Given the description of an element on the screen output the (x, y) to click on. 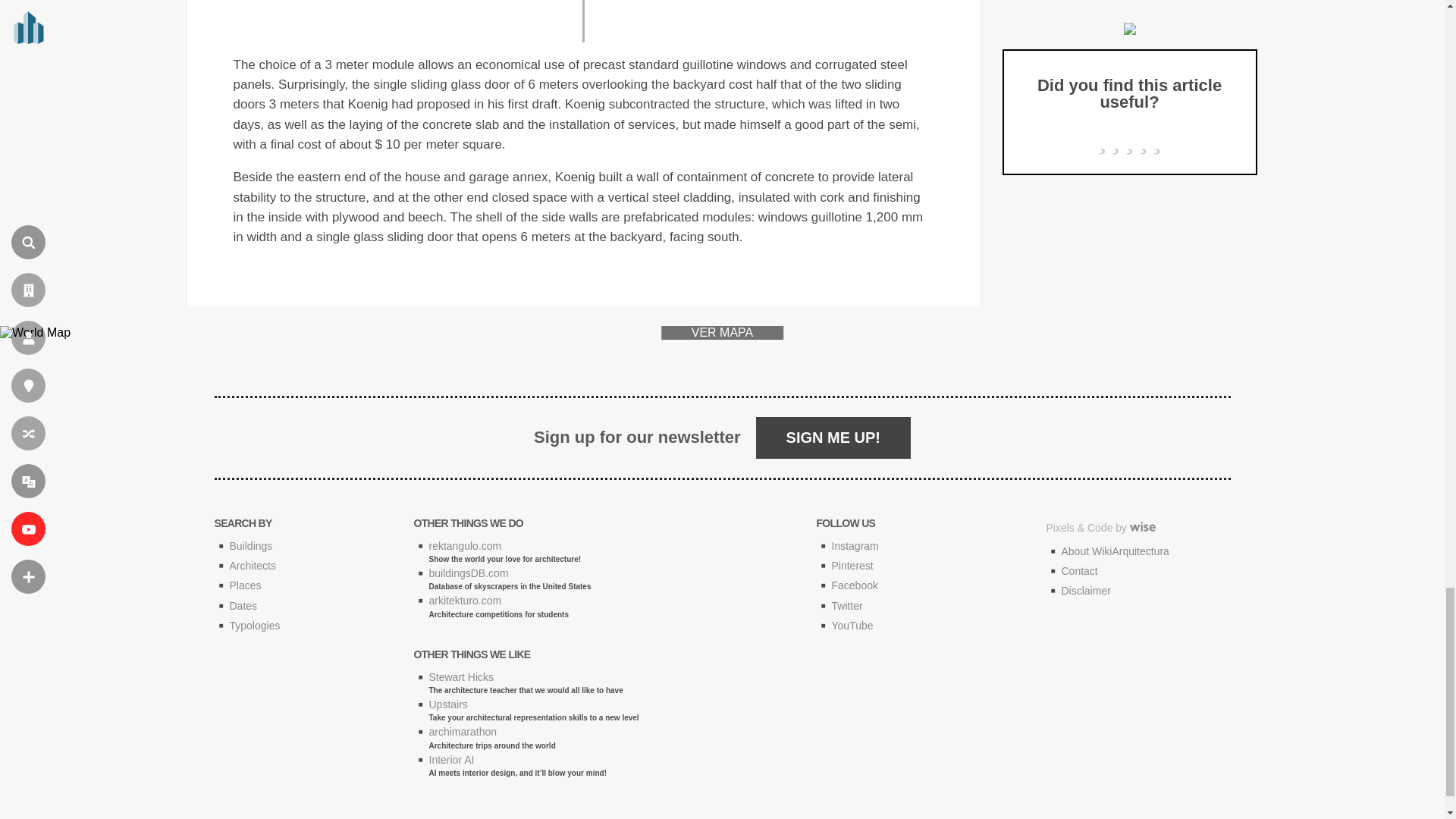
SIGN ME UP! (833, 437)
Buildings (250, 545)
VER MAPA (722, 332)
